Given the description of an element on the screen output the (x, y) to click on. 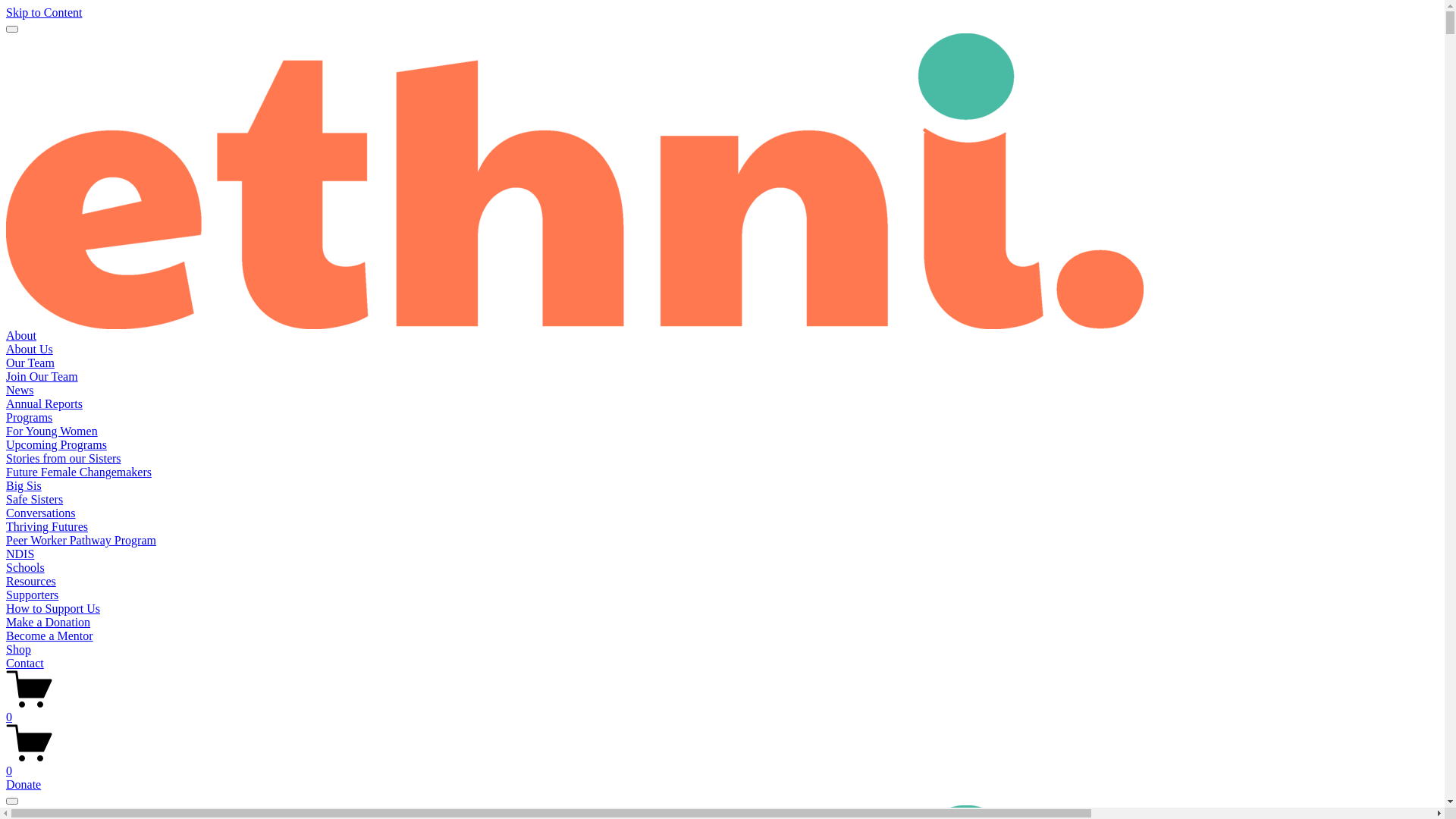
Our Team Element type: text (30, 362)
About Element type: text (21, 335)
Become a Mentor Element type: text (49, 635)
Conversations Element type: text (40, 512)
Stories from our Sisters Element type: text (63, 457)
Join Our Team Element type: text (42, 376)
Safe Sisters Element type: text (34, 498)
Annual Reports Element type: text (44, 403)
0 Element type: text (722, 710)
Thriving Futures Element type: text (46, 526)
Future Female Changemakers Element type: text (78, 471)
Programs Element type: text (29, 417)
Upcoming Programs Element type: text (56, 444)
Contact Element type: text (24, 662)
NDIS Element type: text (20, 553)
Make a Donation Element type: text (48, 621)
Schools Element type: text (25, 567)
Shop Element type: text (18, 649)
Supporters Element type: text (32, 594)
Donate Element type: text (23, 784)
News Element type: text (19, 389)
Big Sis Element type: text (23, 485)
How to Support Us Element type: text (53, 608)
Skip to Content Element type: text (43, 12)
Peer Worker Pathway Program Element type: text (81, 539)
0 Element type: text (722, 764)
Resources Element type: text (31, 580)
For Young Women Element type: text (51, 430)
About Us Element type: text (29, 348)
